Given the description of an element on the screen output the (x, y) to click on. 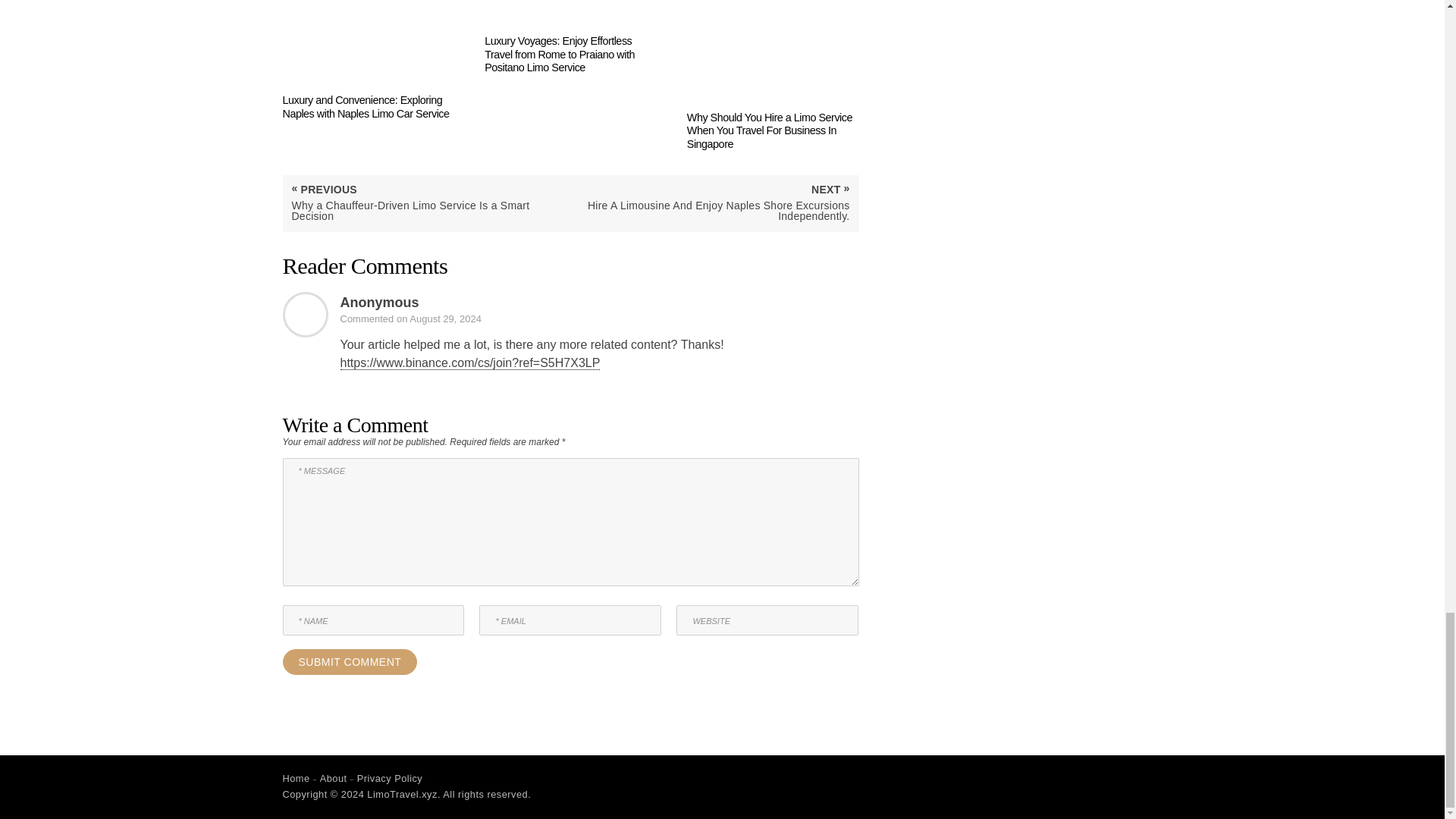
Commented on August 29, 2024 (409, 318)
About (333, 778)
Privacy Policy (389, 778)
Submit Comment (349, 661)
Home (295, 778)
